Given the description of an element on the screen output the (x, y) to click on. 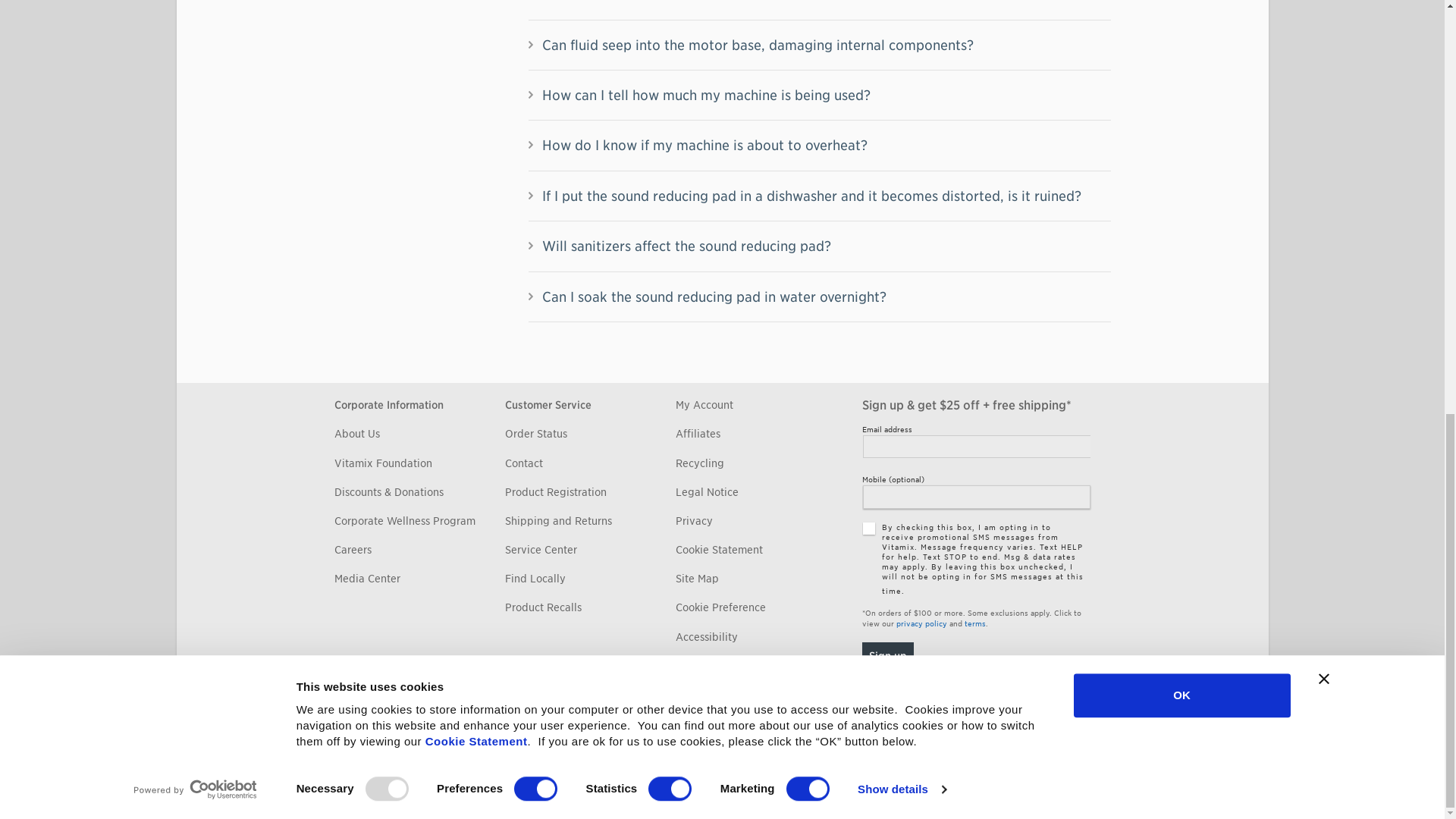
Sign up (886, 655)
